Given the description of an element on the screen output the (x, y) to click on. 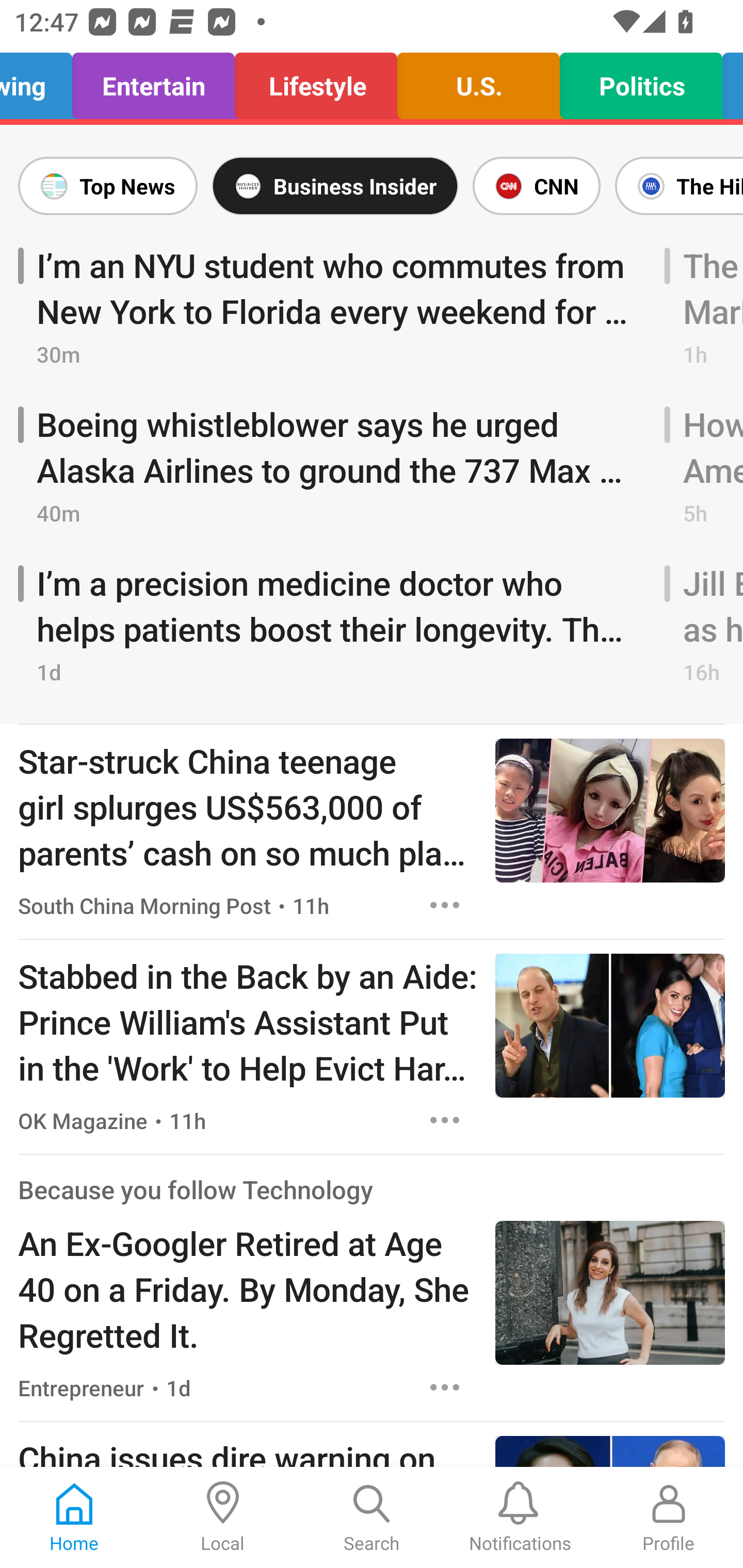
Entertain (153, 81)
Lifestyle (315, 81)
U.S. (478, 81)
Politics (641, 81)
Top News (111, 185)
CNN (536, 185)
Options (444, 904)
Options (444, 1120)
Because you follow Technology (195, 1188)
Options (444, 1387)
Local (222, 1517)
Search (371, 1517)
Notifications (519, 1517)
Profile (668, 1517)
